Given the description of an element on the screen output the (x, y) to click on. 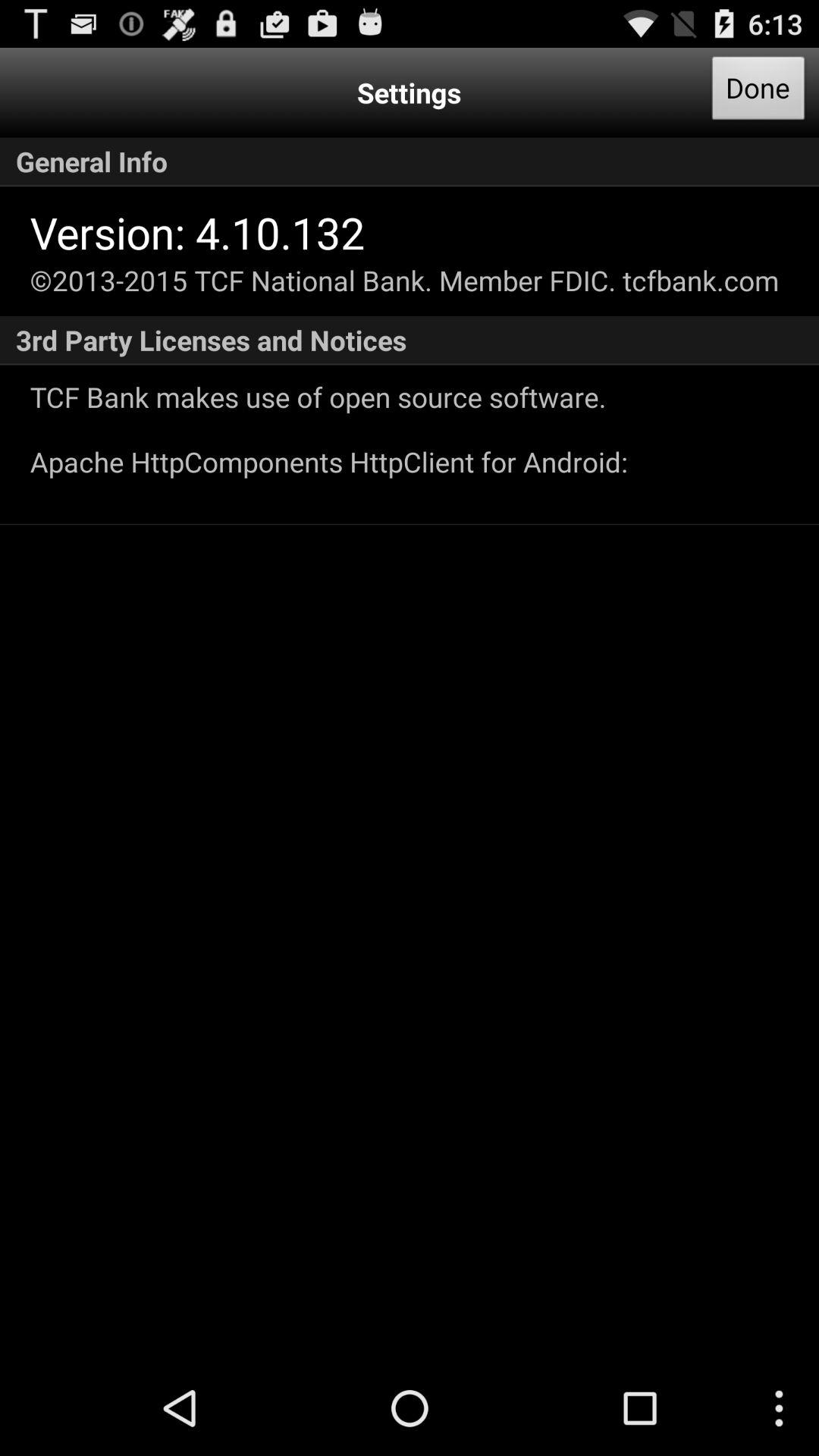
turn on the 3rd party licenses (409, 340)
